Given the description of an element on the screen output the (x, y) to click on. 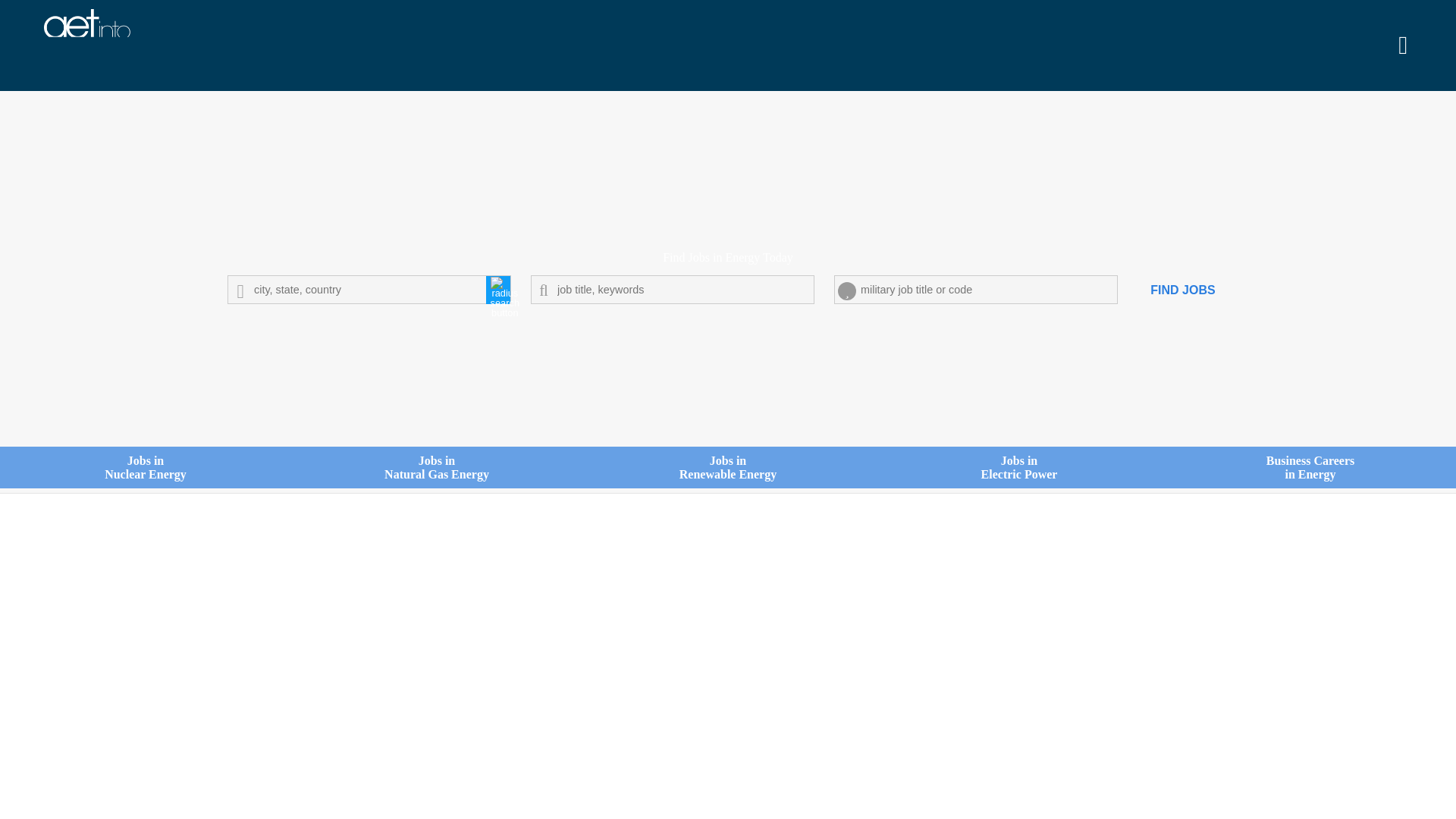
Search Phrase (672, 289)
FIND JOBS (1018, 486)
Search Location (436, 486)
Search MOC (727, 486)
